Given the description of an element on the screen output the (x, y) to click on. 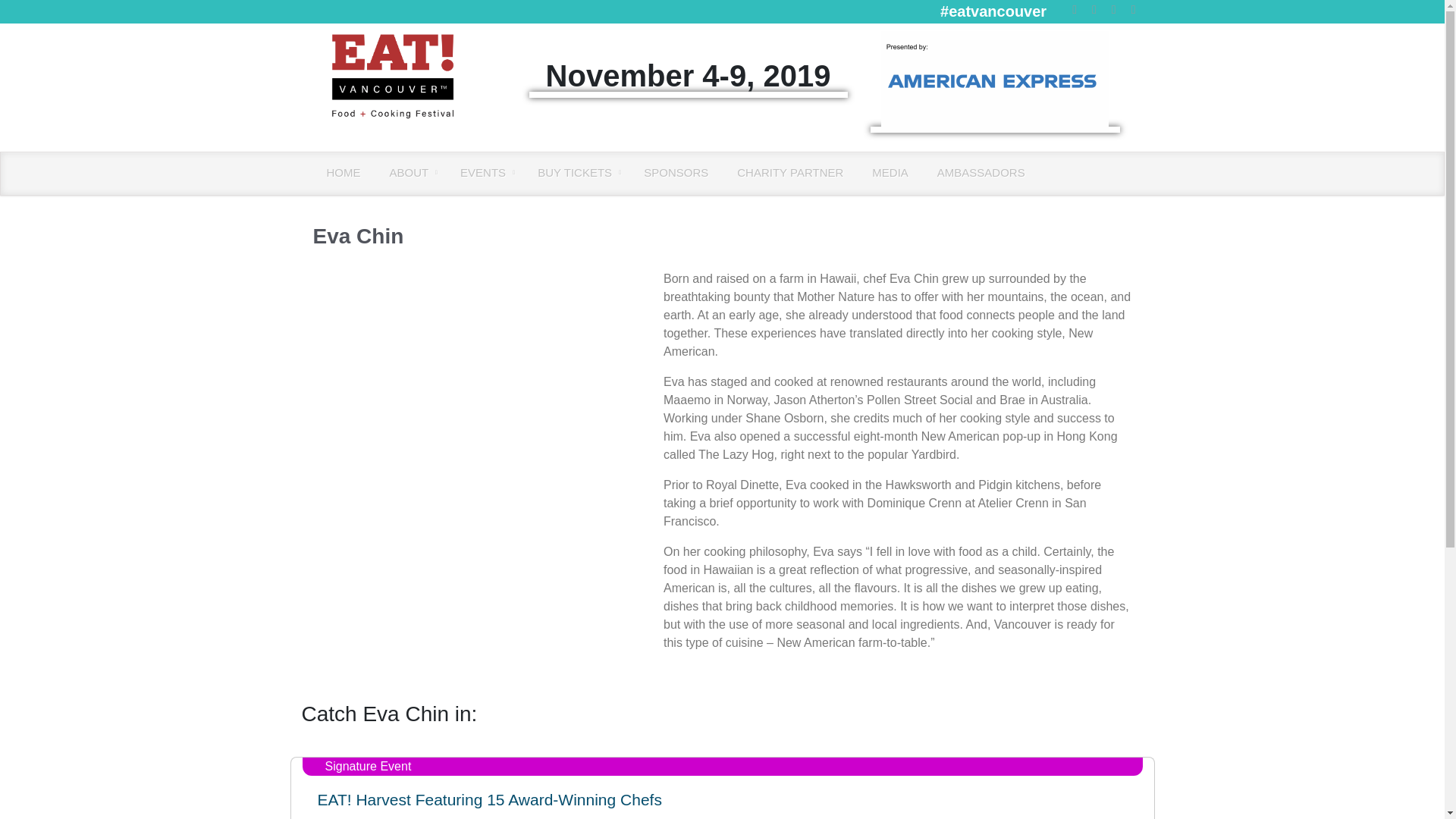
ABOUT (411, 172)
AMBASSADORS (981, 172)
BUY TICKETS (576, 172)
EVENTS (485, 172)
MEDIA (890, 172)
CHARITY PARTNER (790, 172)
SPONSORS (676, 172)
HOME (343, 172)
